Given the description of an element on the screen output the (x, y) to click on. 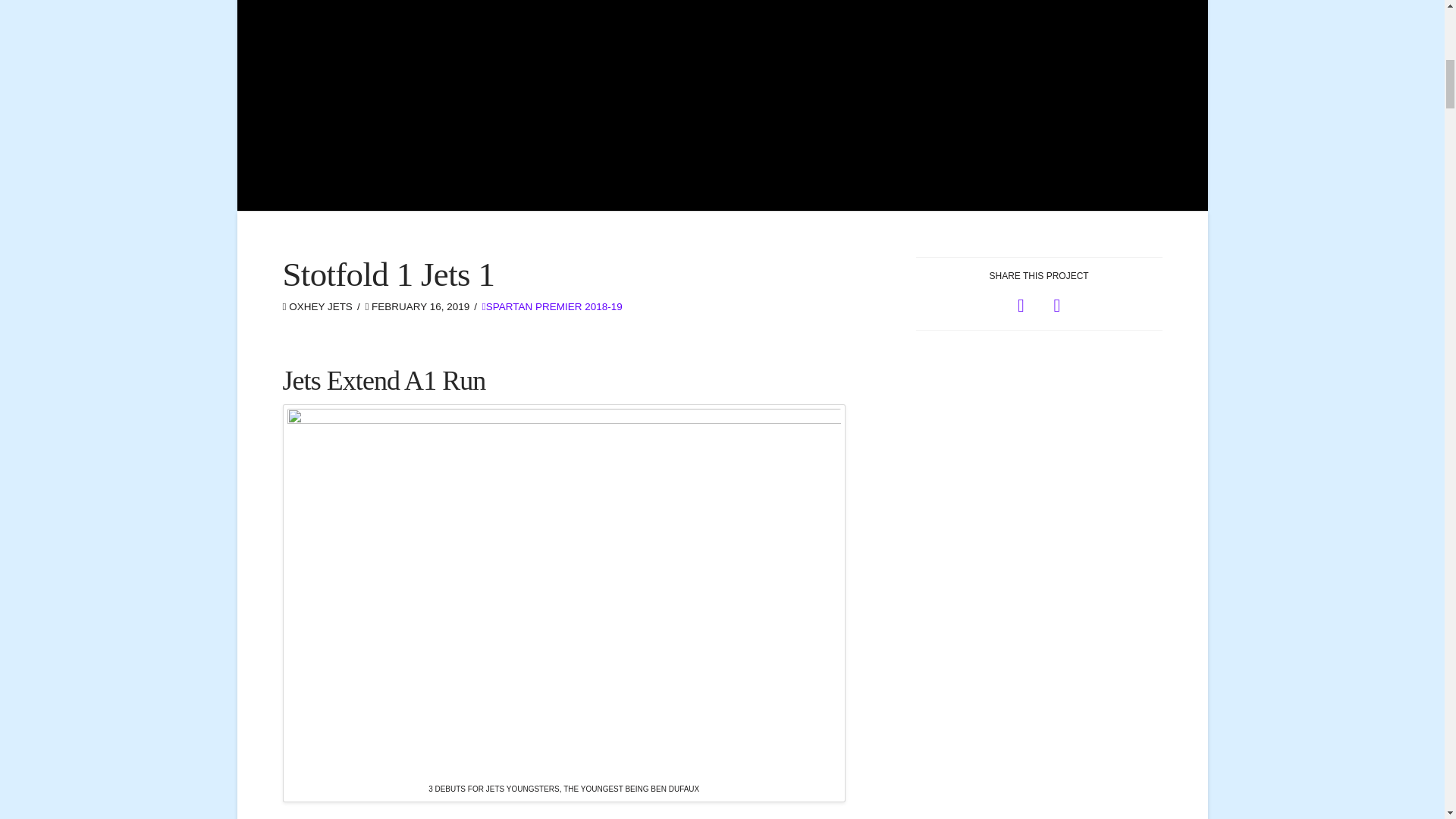
SPARTAN PREMIER 2018-19 (552, 306)
